Given the description of an element on the screen output the (x, y) to click on. 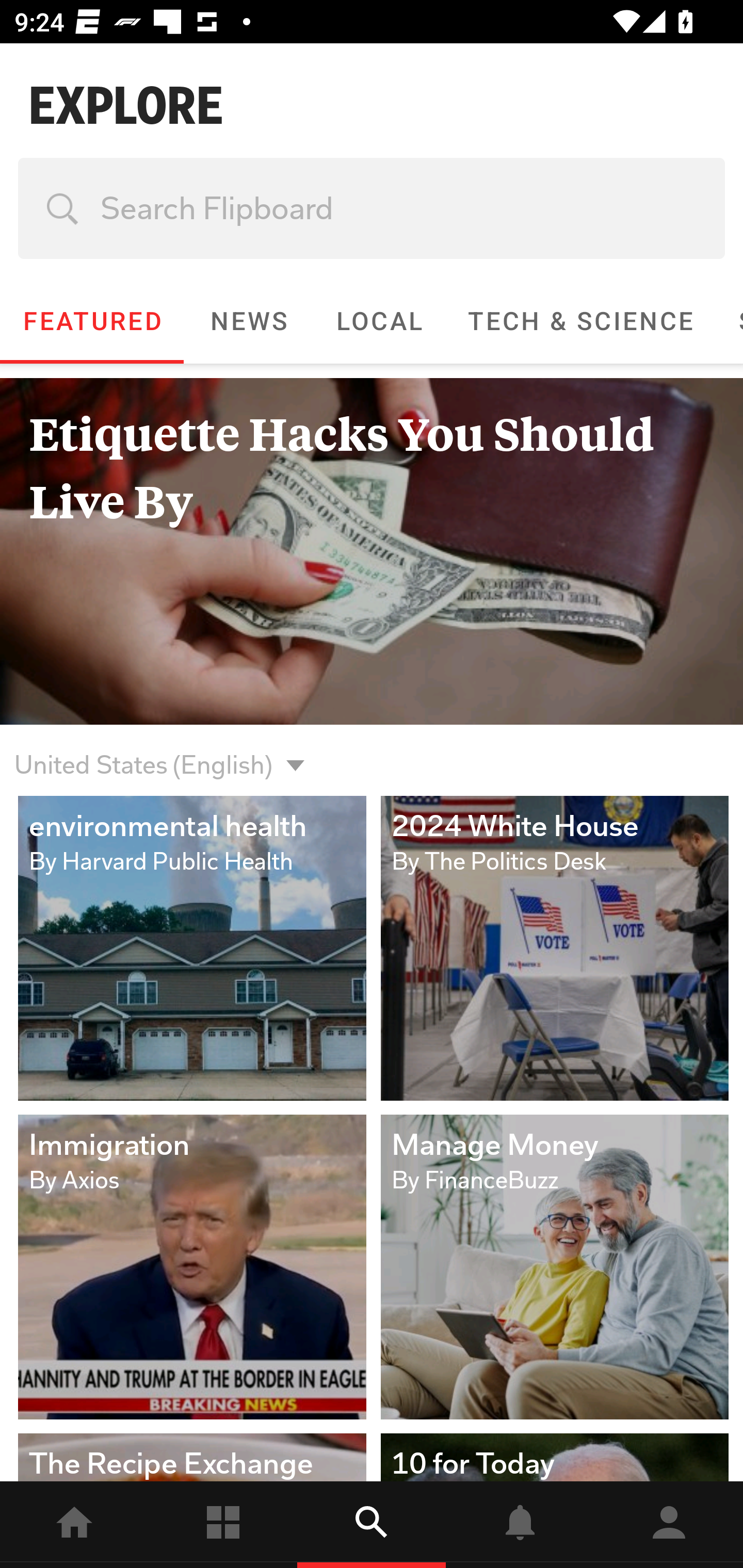
Search Flipboard (371, 208)
News NEWS (248, 320)
Local LOCAL (379, 320)
Tech & Science TECH & SCIENCE (580, 320)
United States (English) (143, 753)
home (74, 1524)
Following (222, 1524)
explore (371, 1524)
Notifications (519, 1524)
Profile (668, 1524)
